Given the description of an element on the screen output the (x, y) to click on. 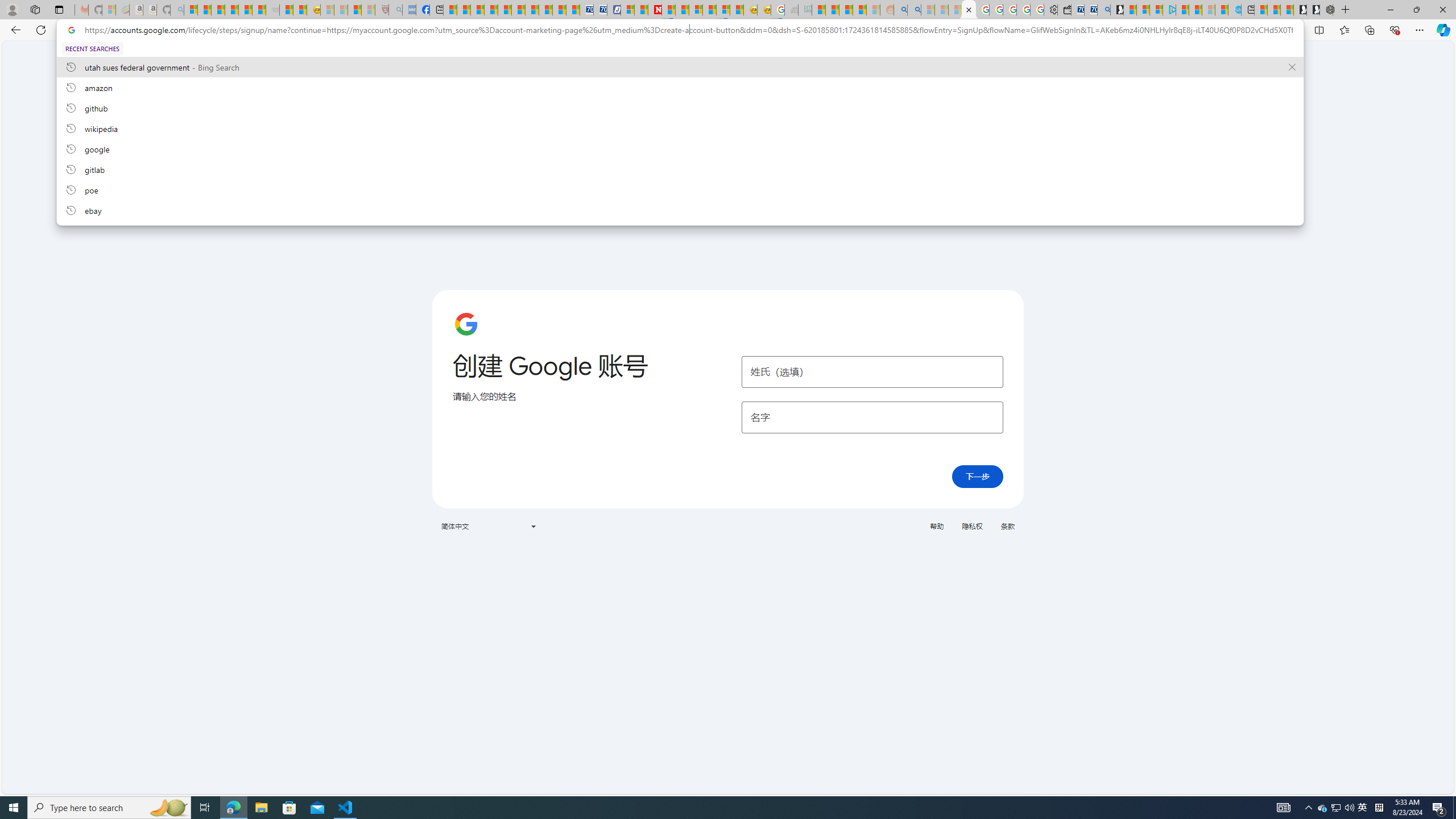
Navy Quest (791, 9)
Latest Politics News & Archive | Newsweek.com (654, 9)
Robert H. Shmerling, MD - Harvard Health - Sleeping (381, 9)
ebay, recent searches from history (679, 209)
